Given the description of an element on the screen output the (x, y) to click on. 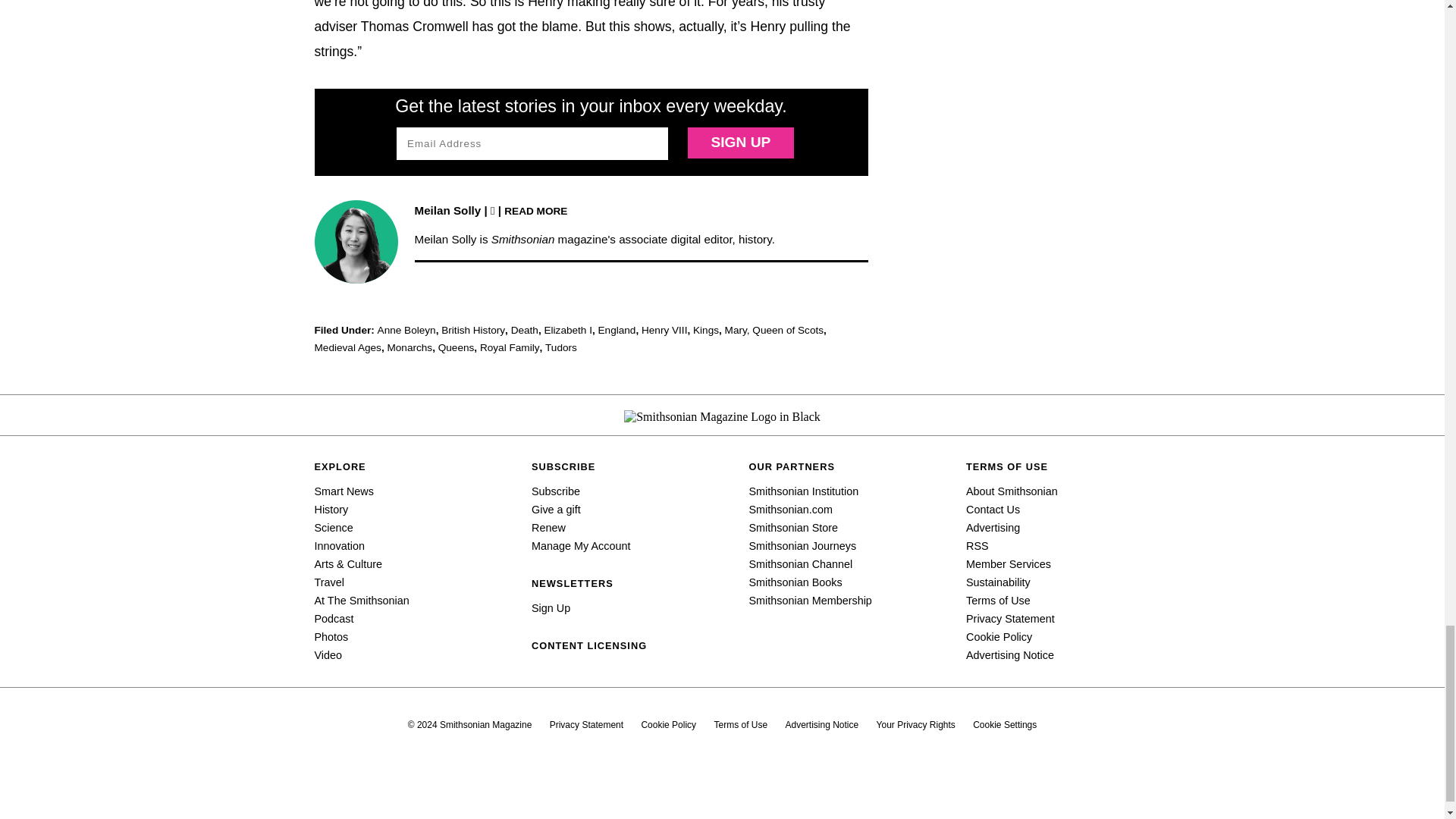
Sign Up (740, 142)
Read more from this author (535, 210)
